Given the description of an element on the screen output the (x, y) to click on. 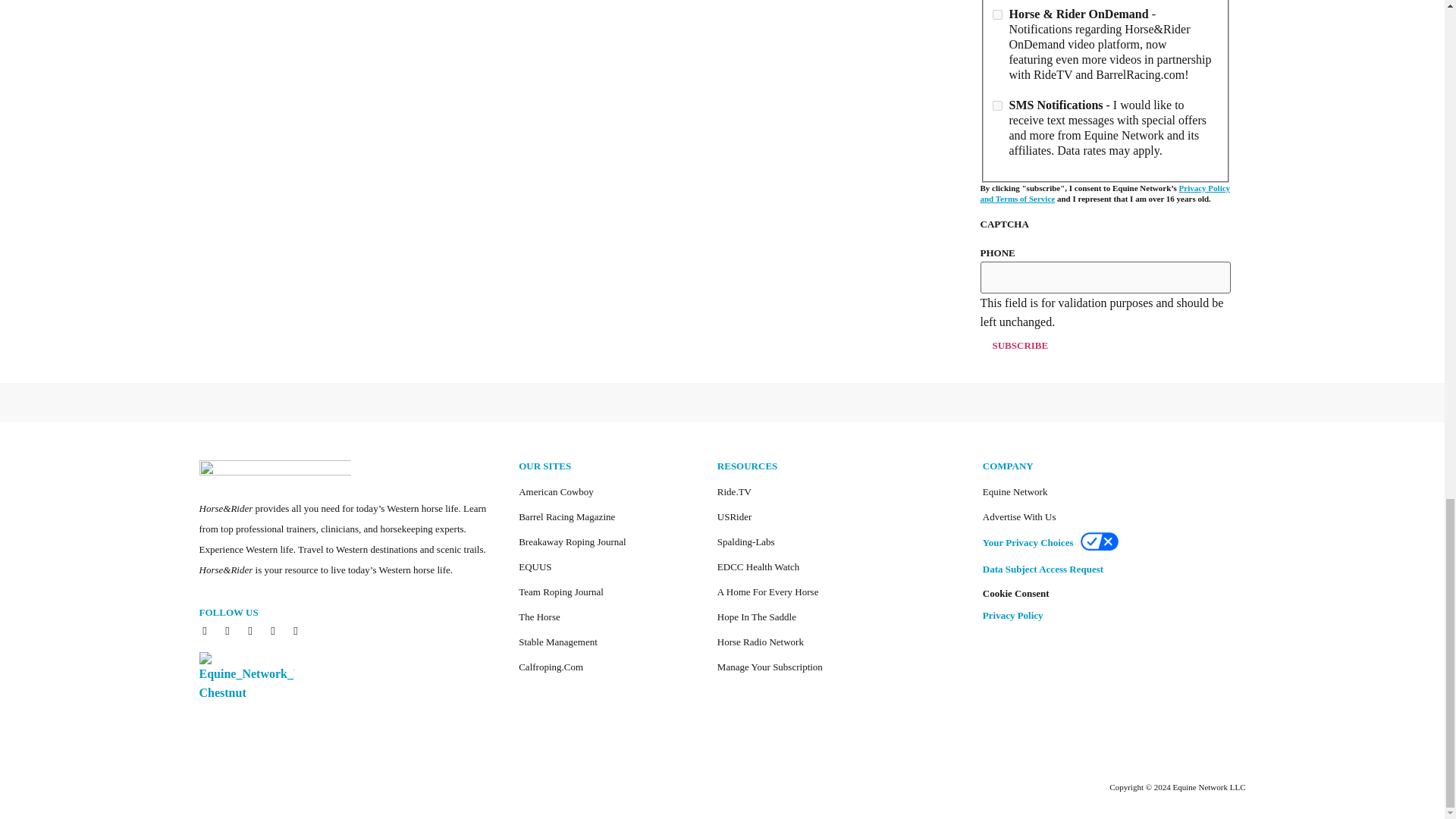
Subscribe (1019, 345)
4d4d6b60-fd63-4a08-9985-dfc93d0e8a7e (996, 14)
SMS Notifications (996, 105)
